Given the description of an element on the screen output the (x, y) to click on. 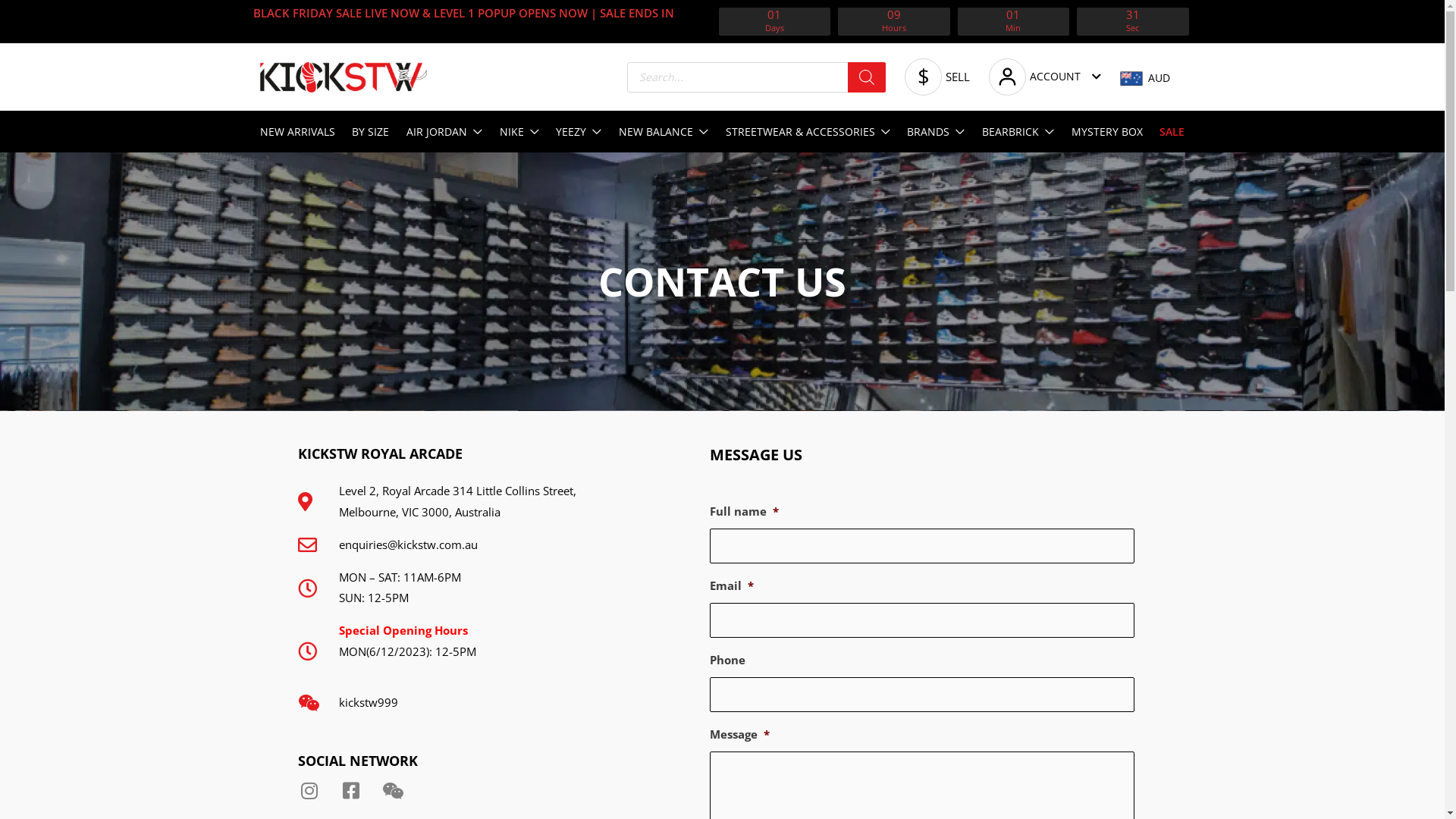
NIKE Element type: text (519, 131)
BEARBRICK Element type: text (1018, 131)
NEW ARRIVALS Element type: text (296, 131)
MYSTERY BOX Element type: text (1106, 131)
SELL Element type: text (936, 76)
STREETWEAR & ACCESSORIES Element type: text (807, 131)
Facebook-square Element type: text (351, 790)
NEW BALANCE Element type: text (663, 131)
BY SIZE Element type: text (370, 131)
Instagram Element type: text (308, 790)
SALE Element type: text (1171, 131)
YEEZY Element type: text (578, 131)
AIR JORDAN Element type: text (444, 131)
Weixin Element type: text (392, 790)
enquiries@kickstw.com.au Element type: text (467, 544)
BRANDS Element type: text (935, 131)
